Given the description of an element on the screen output the (x, y) to click on. 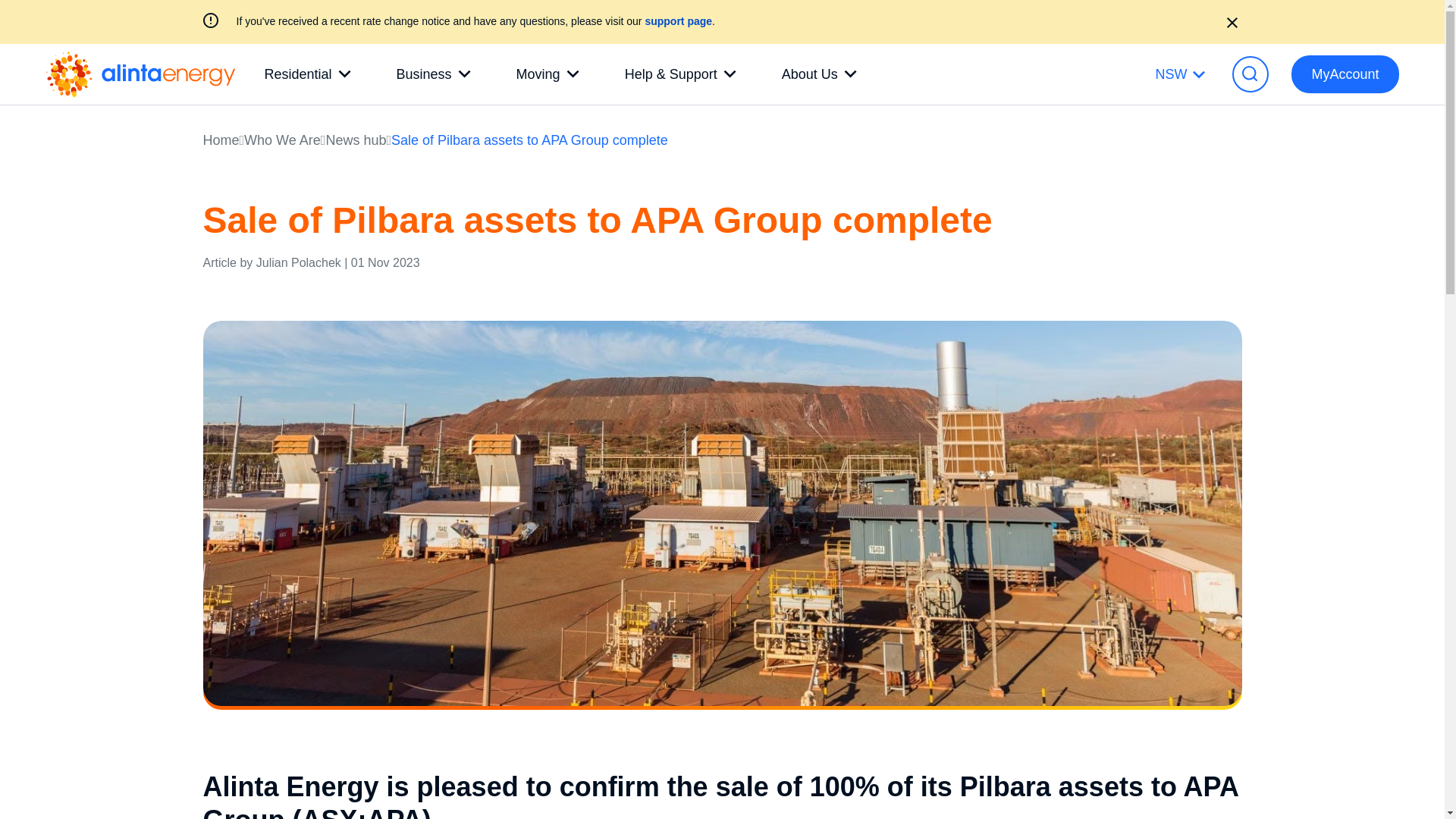
Internal website (678, 21)
Residential (307, 74)
MyAccount (1344, 74)
About Us (819, 74)
NSW (1179, 74)
Moving (547, 74)
Business (433, 74)
support page (678, 21)
Alinta Energy (139, 73)
